Given the description of an element on the screen output the (x, y) to click on. 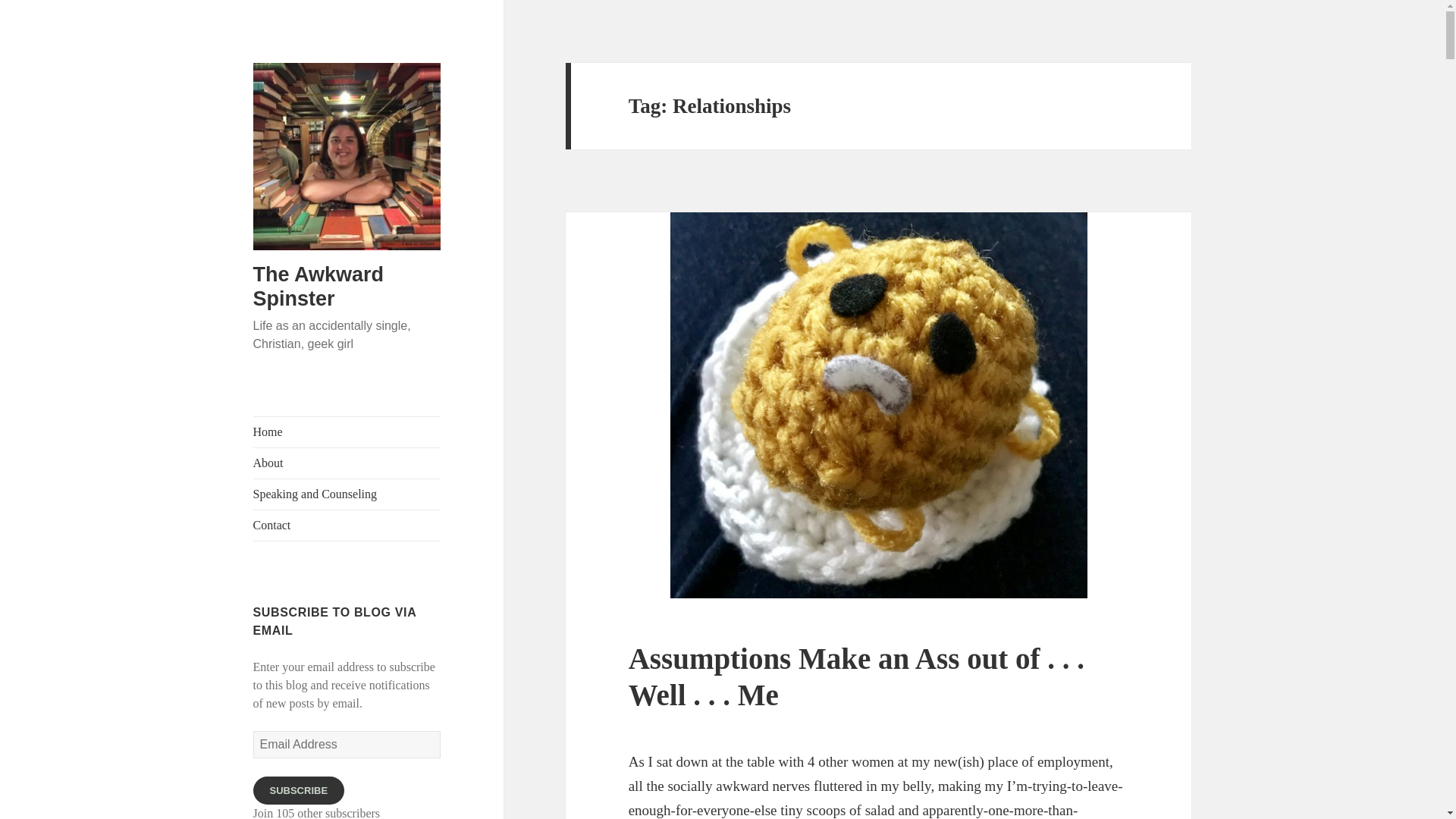
Speaking and Counseling (347, 494)
Home (347, 431)
Assumptions Make an Ass out of . . . Well . . . Me (856, 676)
SUBSCRIBE (299, 790)
The Awkward Spinster (318, 286)
Contact (347, 525)
About (347, 462)
